Given the description of an element on the screen output the (x, y) to click on. 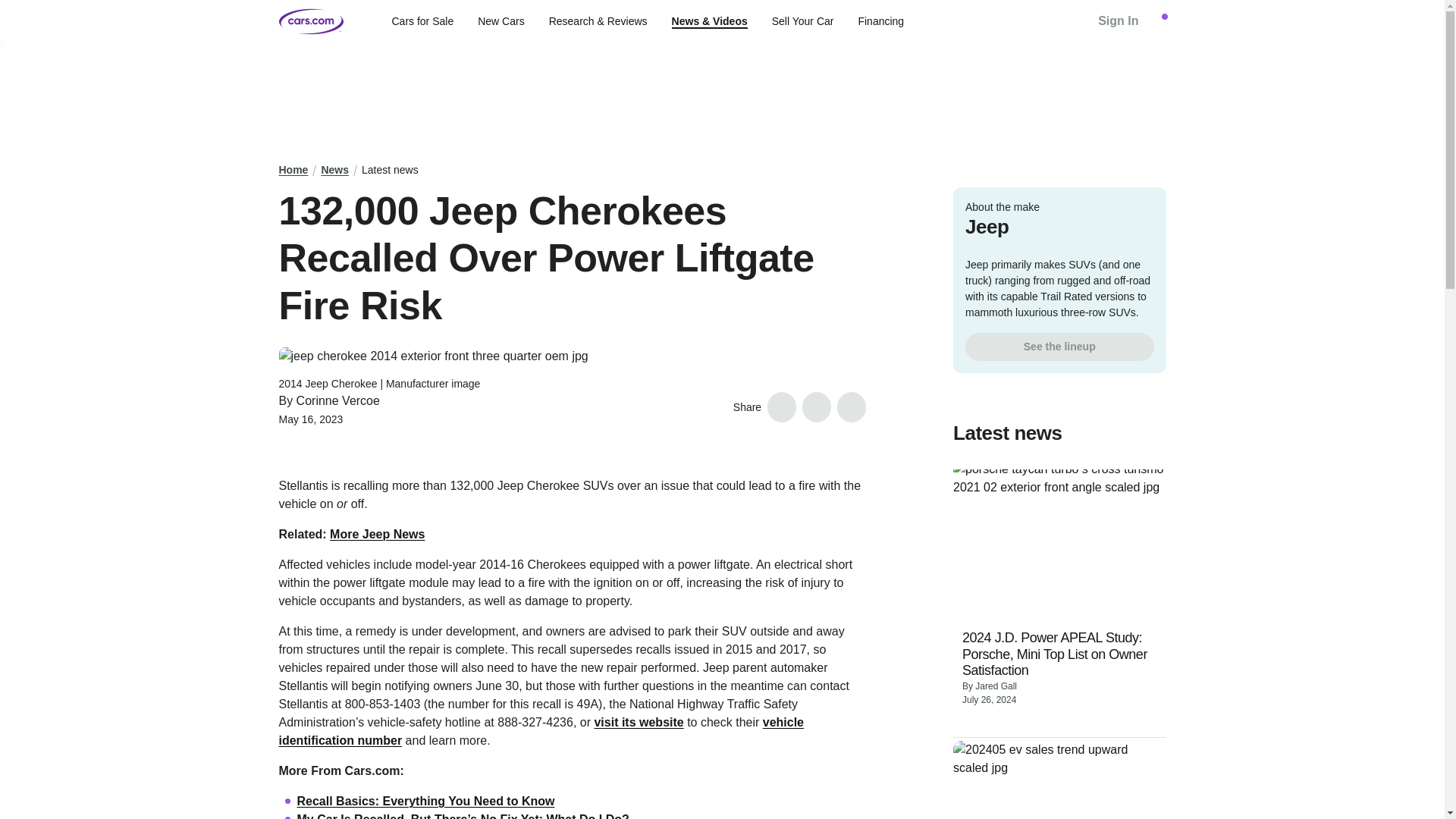
Recall Basics: Everything You Need to Know (425, 800)
Sell Your Car (802, 21)
Financing (880, 21)
Home (293, 170)
Cars for Sale (421, 21)
Skip to main content (12, 11)
More Jeep News (377, 533)
New Cars (500, 21)
visit its website (638, 721)
News (334, 170)
vehicle identification number (542, 730)
